Given the description of an element on the screen output the (x, y) to click on. 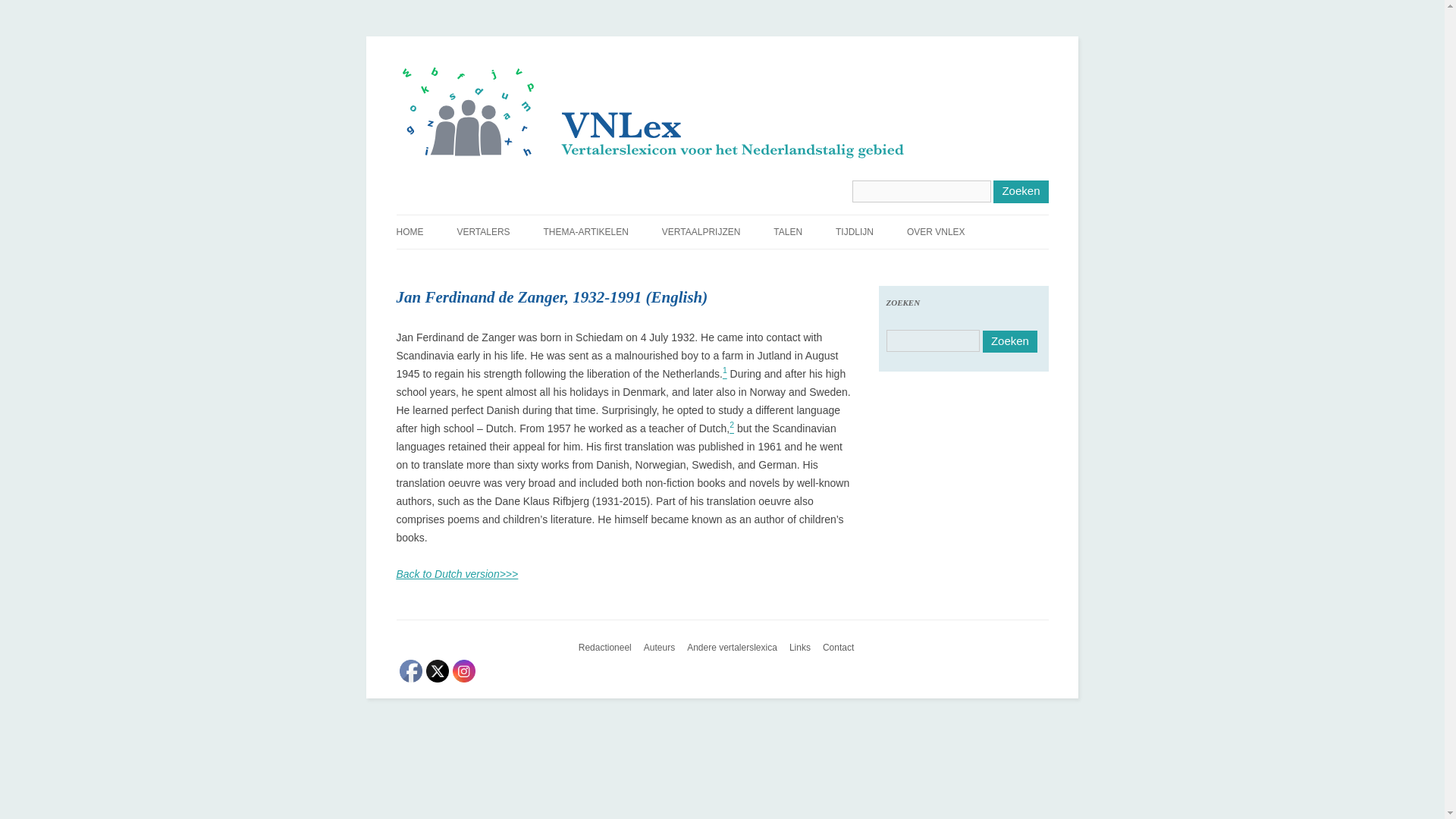
Zoeken (1009, 341)
OVER VNLEX (936, 231)
VERTALERS (483, 231)
Zoeken (1020, 191)
THEMA-ARTIKELEN (585, 231)
Zoeken (1009, 341)
Zoeken (1020, 191)
TIJDLIJN (854, 231)
Redactioneel (610, 647)
Auteurs (665, 647)
VERTAALPRIJZEN (701, 231)
Andere vertalerslexica (738, 647)
Links (805, 647)
